Given the description of an element on the screen output the (x, y) to click on. 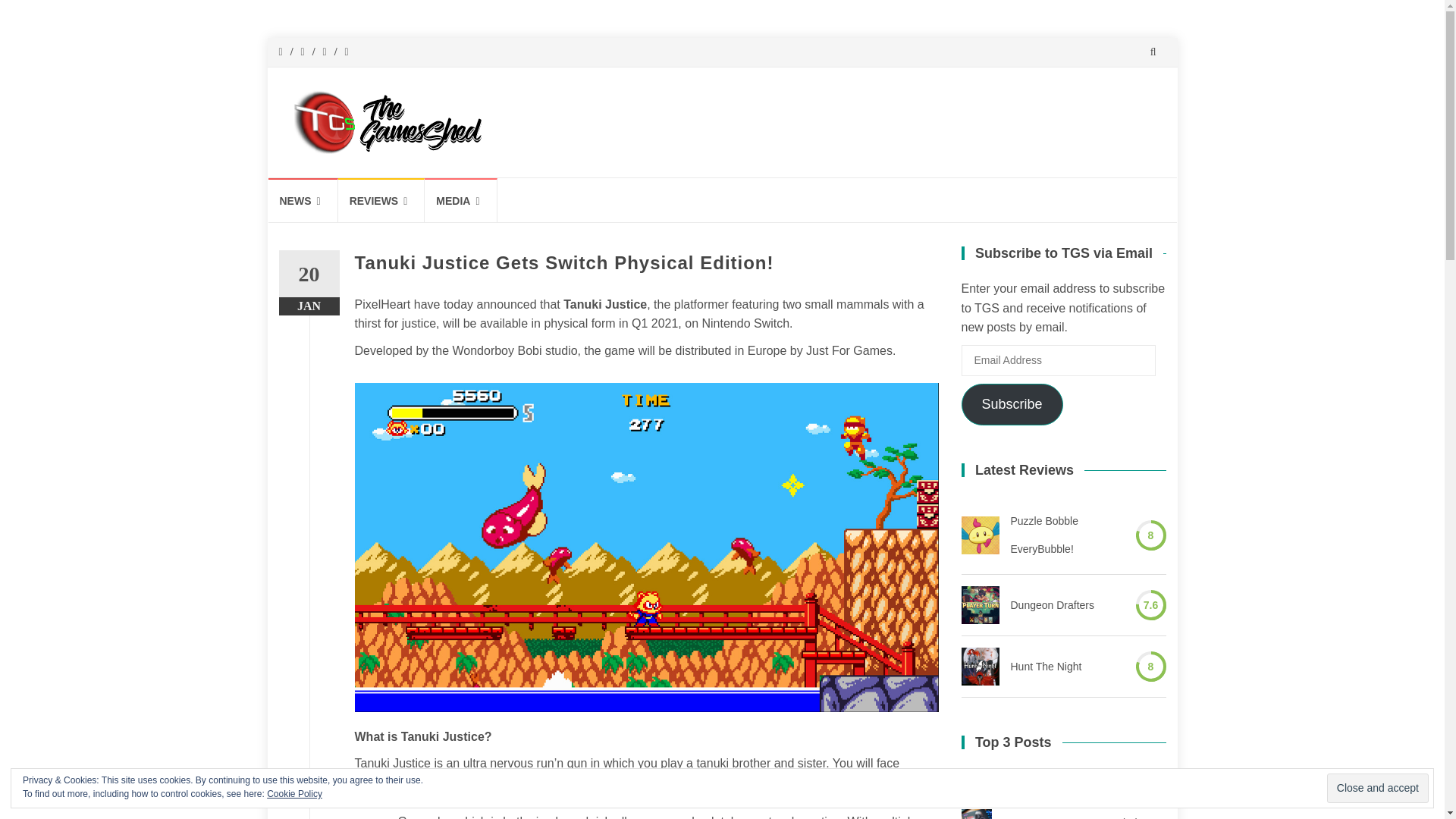
Advertisement (878, 119)
Puzzle Bobble EveryBubble! (1067, 534)
Dungeon Drafters (1052, 605)
Close and accept (1377, 788)
NEWS (302, 199)
Dungeon Drafters (979, 605)
Puzzle Bobble EveryBubble! (979, 535)
MEDIA (460, 199)
REVIEWS (381, 199)
